Given the description of an element on the screen output the (x, y) to click on. 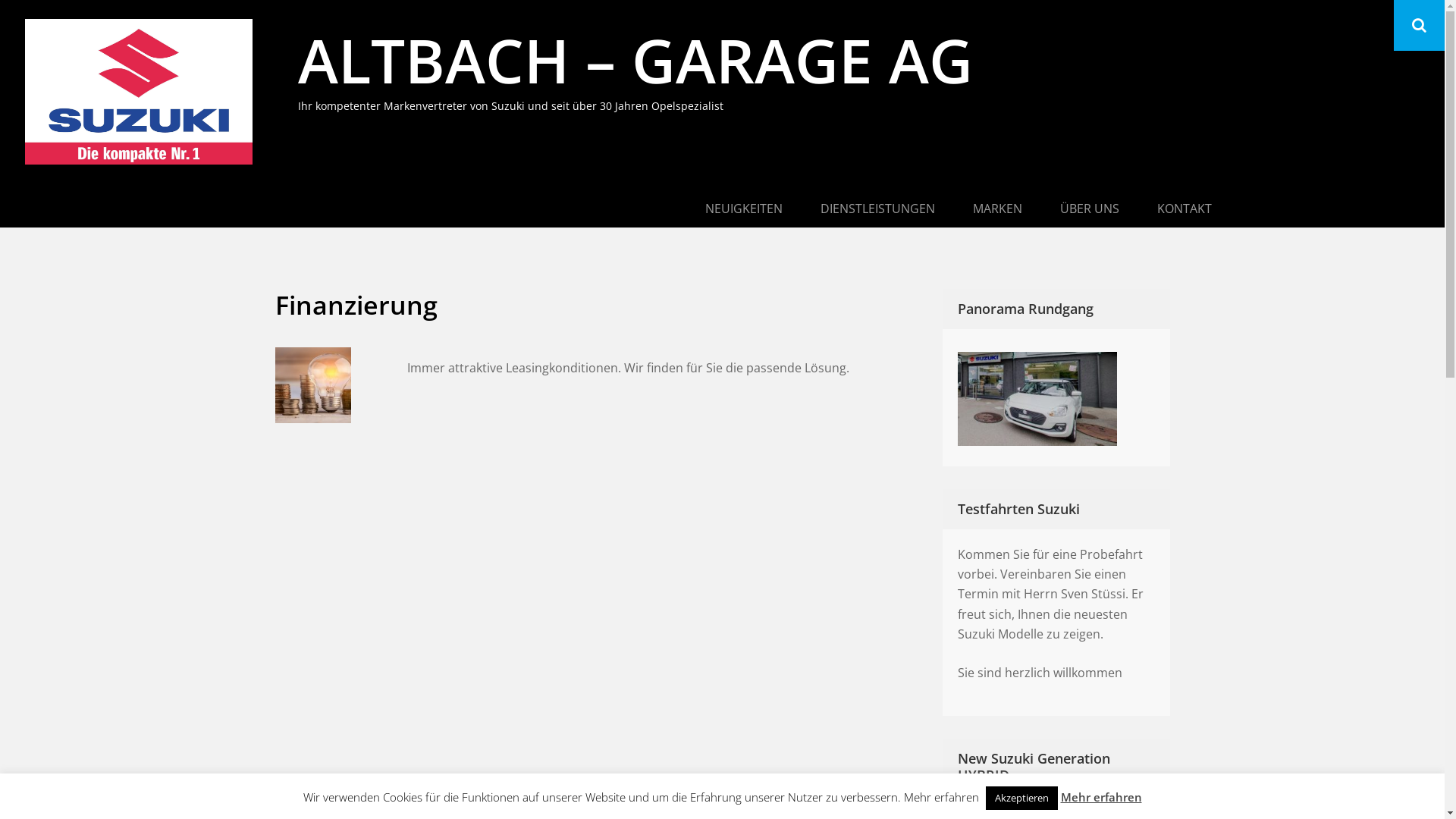
DIENSTLEISTUNGEN Element type: text (876, 209)
Mehr erfahren Element type: text (1100, 796)
Akzeptieren Element type: text (1021, 797)
MARKEN Element type: text (997, 209)
Panorama Rundgang Element type: hover (1055, 394)
KONTAKT Element type: text (1183, 209)
NEUIGKEITEN Element type: text (743, 209)
